Given the description of an element on the screen output the (x, y) to click on. 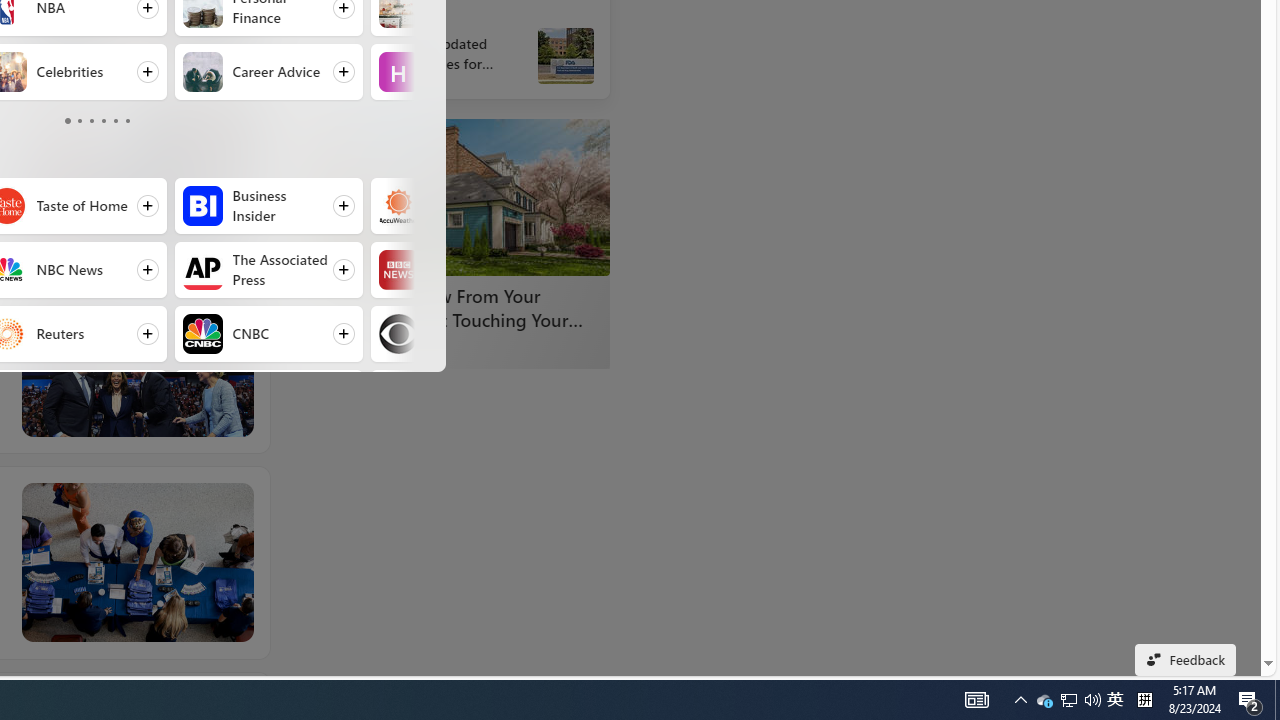
Class: tab-no-click tab  (127, 120)
Follow Healthy Eating (464, 71)
Follow AccuWeather (464, 205)
Business Insider (201, 205)
Feedback (1185, 659)
BBC (397, 269)
Follow Fox Business (268, 398)
Ad (338, 348)
CBS News (397, 333)
How To Borrow From Your Home Without Touching Your Mortgage (459, 307)
Follow Business Insider (268, 205)
Follow Career Advice (268, 71)
